Given the description of an element on the screen output the (x, y) to click on. 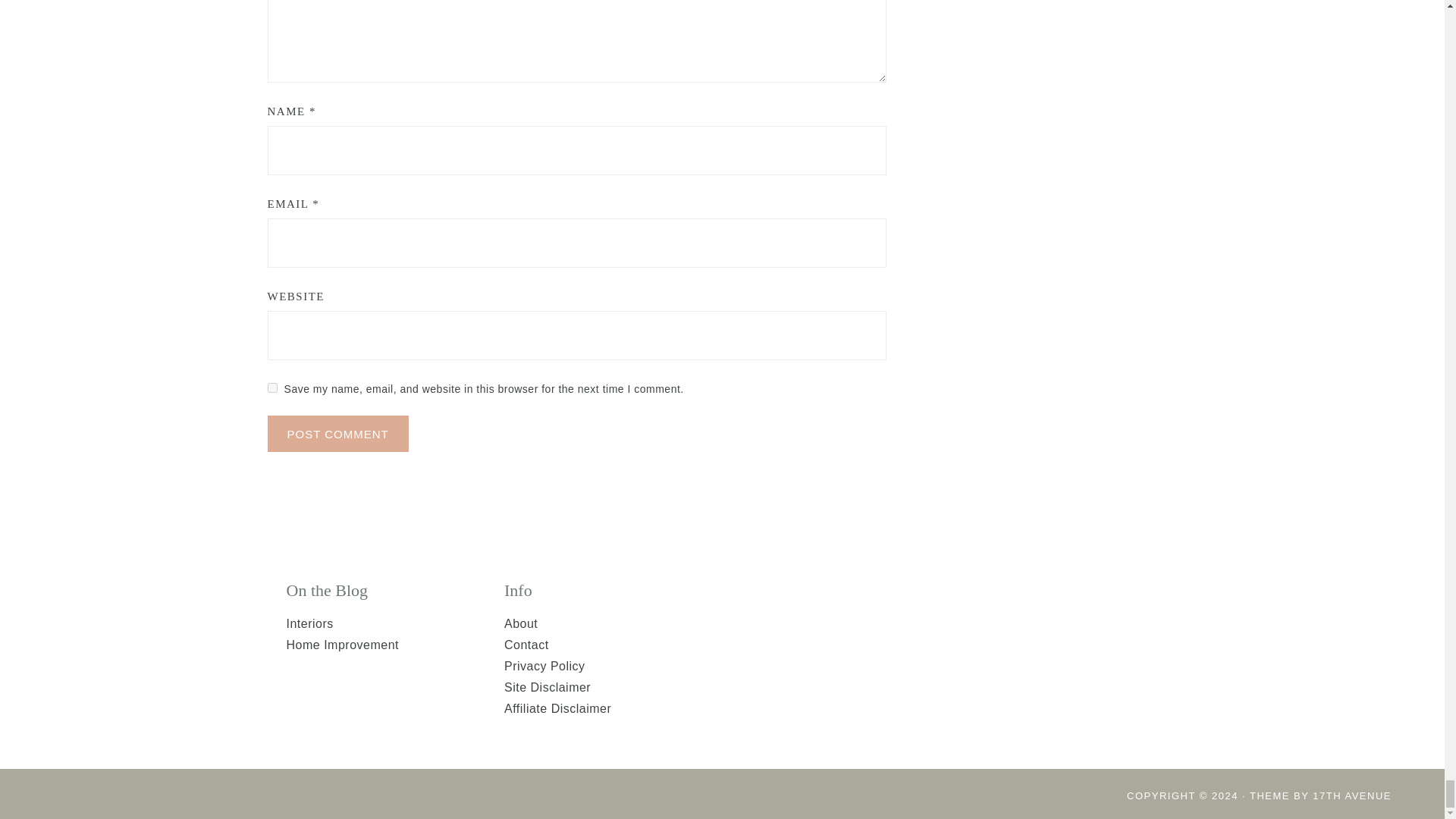
yes (271, 388)
Post Comment (336, 433)
